Given the description of an element on the screen output the (x, y) to click on. 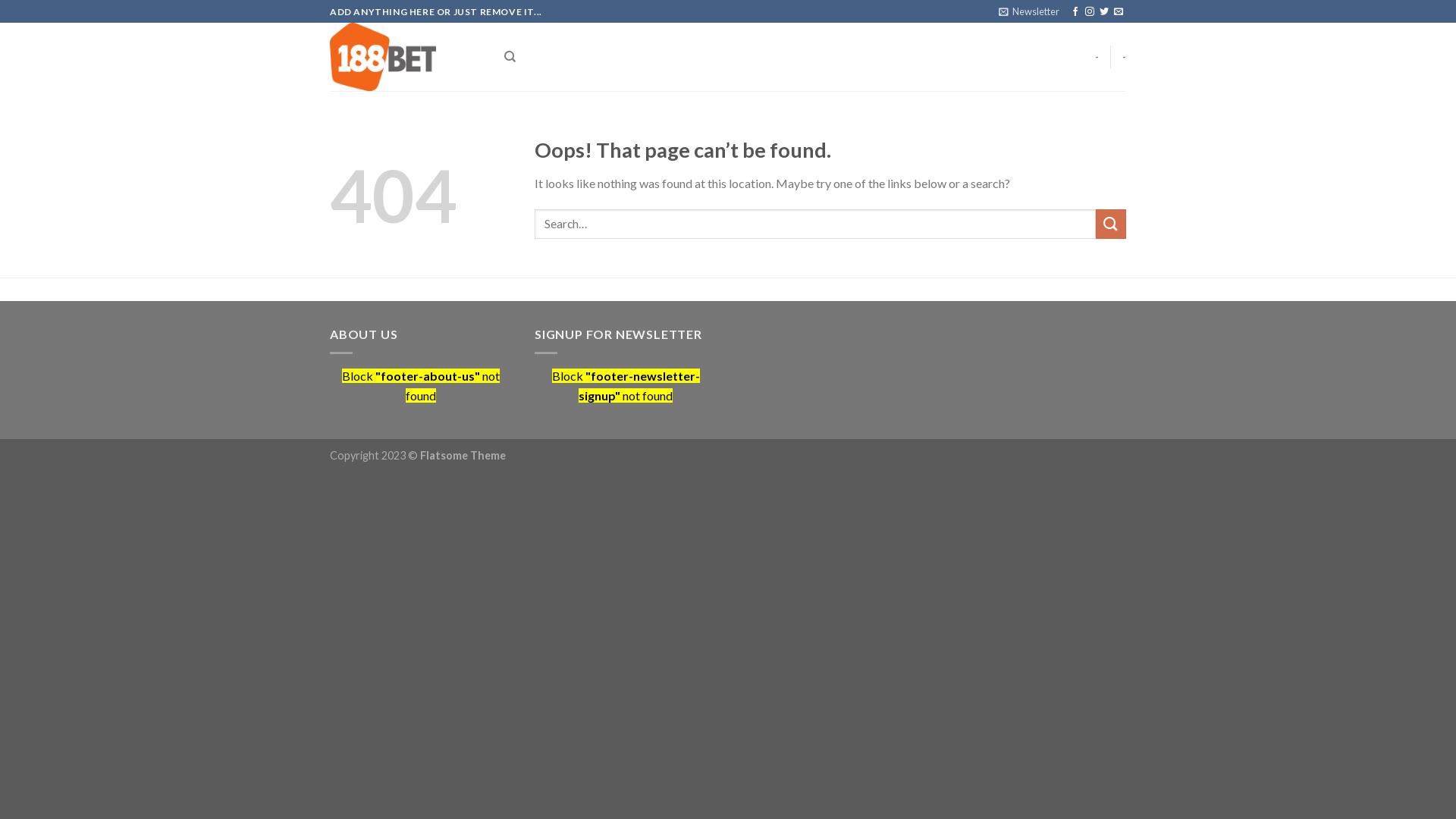
Follow on Facebook Element type: hover (1074, 11)
Newsletter Element type: text (1028, 11)
Follow on Twitter Element type: hover (1103, 11)
Send us an email Element type: hover (1118, 11)
- Element type: text (1124, 56)
- Element type: text (1096, 56)
188BET Element type: hover (405, 56)
Follow on Instagram Element type: hover (1089, 11)
